Given the description of an element on the screen output the (x, y) to click on. 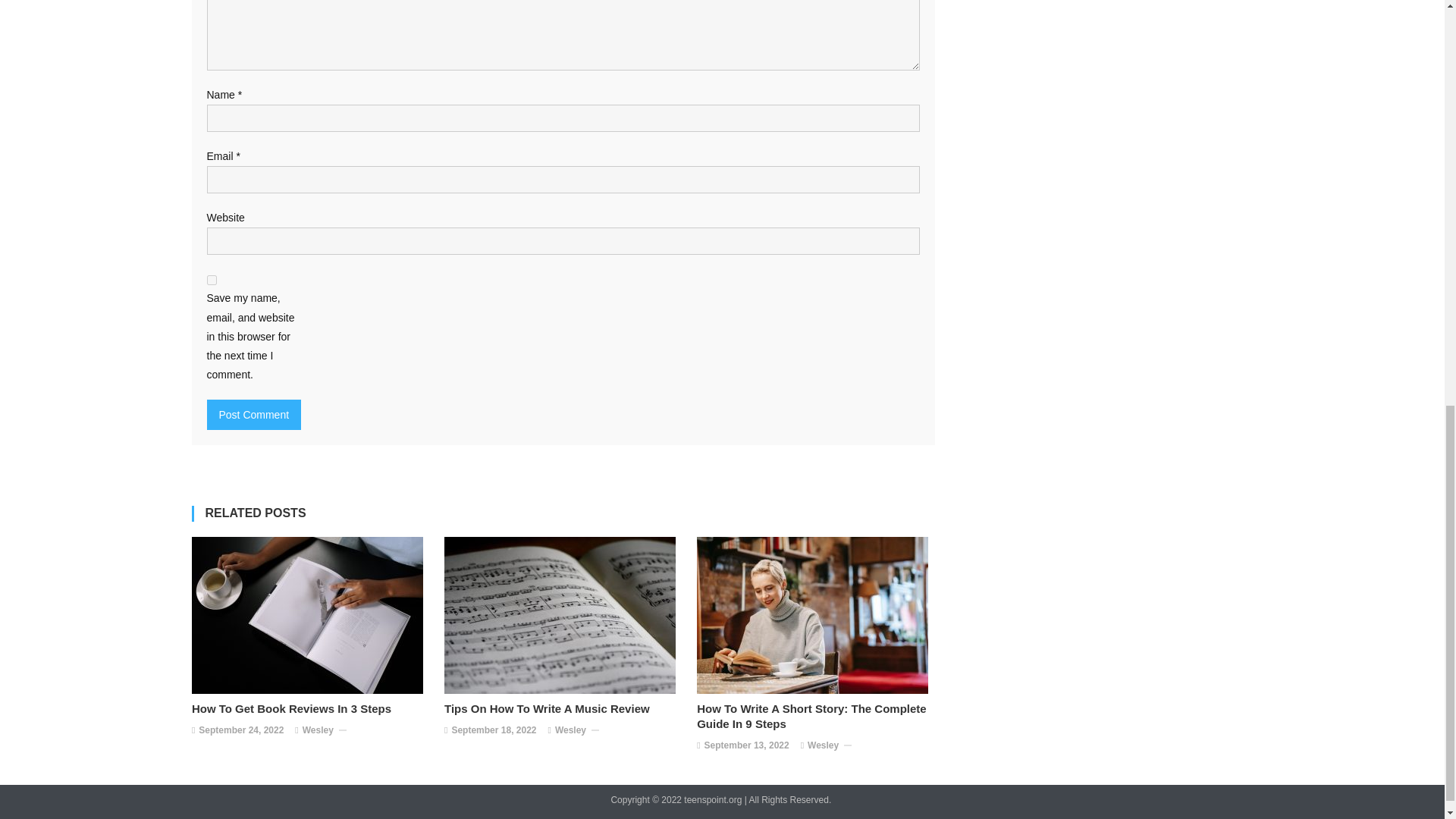
Wesley (570, 730)
Wesley (317, 730)
September 18, 2022 (493, 730)
yes (210, 280)
Post Comment (253, 414)
How To Write A Short Story: The Complete Guide In 9 Steps (815, 716)
Tips On How To Write A Music Review (562, 708)
How To Get Book Reviews In 3 Steps (310, 708)
Wesley (823, 745)
September 13, 2022 (746, 745)
Post Comment (253, 414)
September 24, 2022 (240, 730)
